Given the description of an element on the screen output the (x, y) to click on. 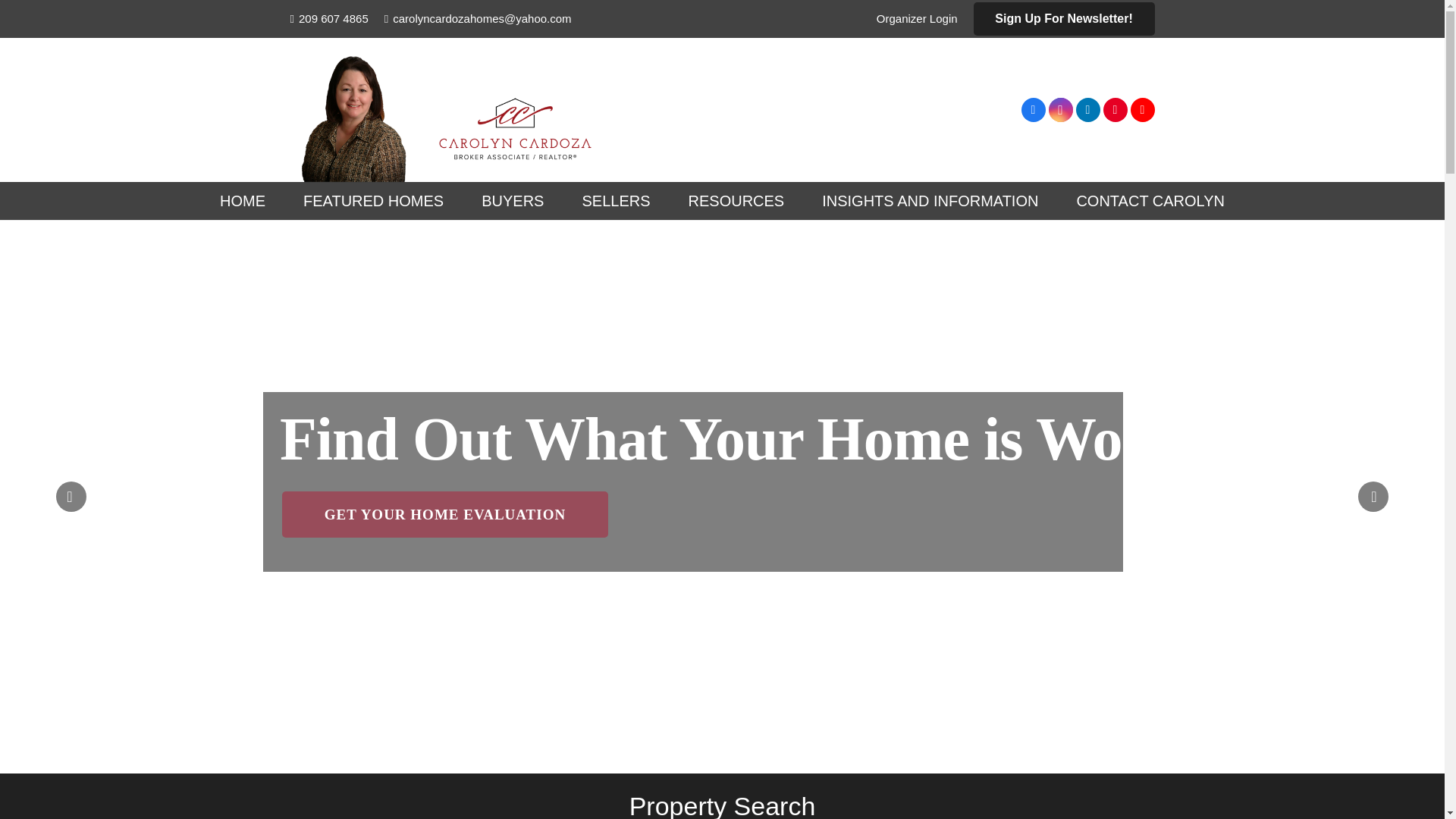
HOME (241, 200)
Facebook (1032, 109)
209 607 4865 (328, 18)
YouTube (1141, 109)
Pinterest (1114, 109)
LinkedIn (1087, 109)
Organizer Login (917, 18)
Instagram (1059, 109)
SELLERS (615, 200)
RESOURCES (736, 200)
Sign Up For Newsletter! (1064, 19)
FEATURED HOMES (373, 200)
BUYERS (512, 200)
